Given the description of an element on the screen output the (x, y) to click on. 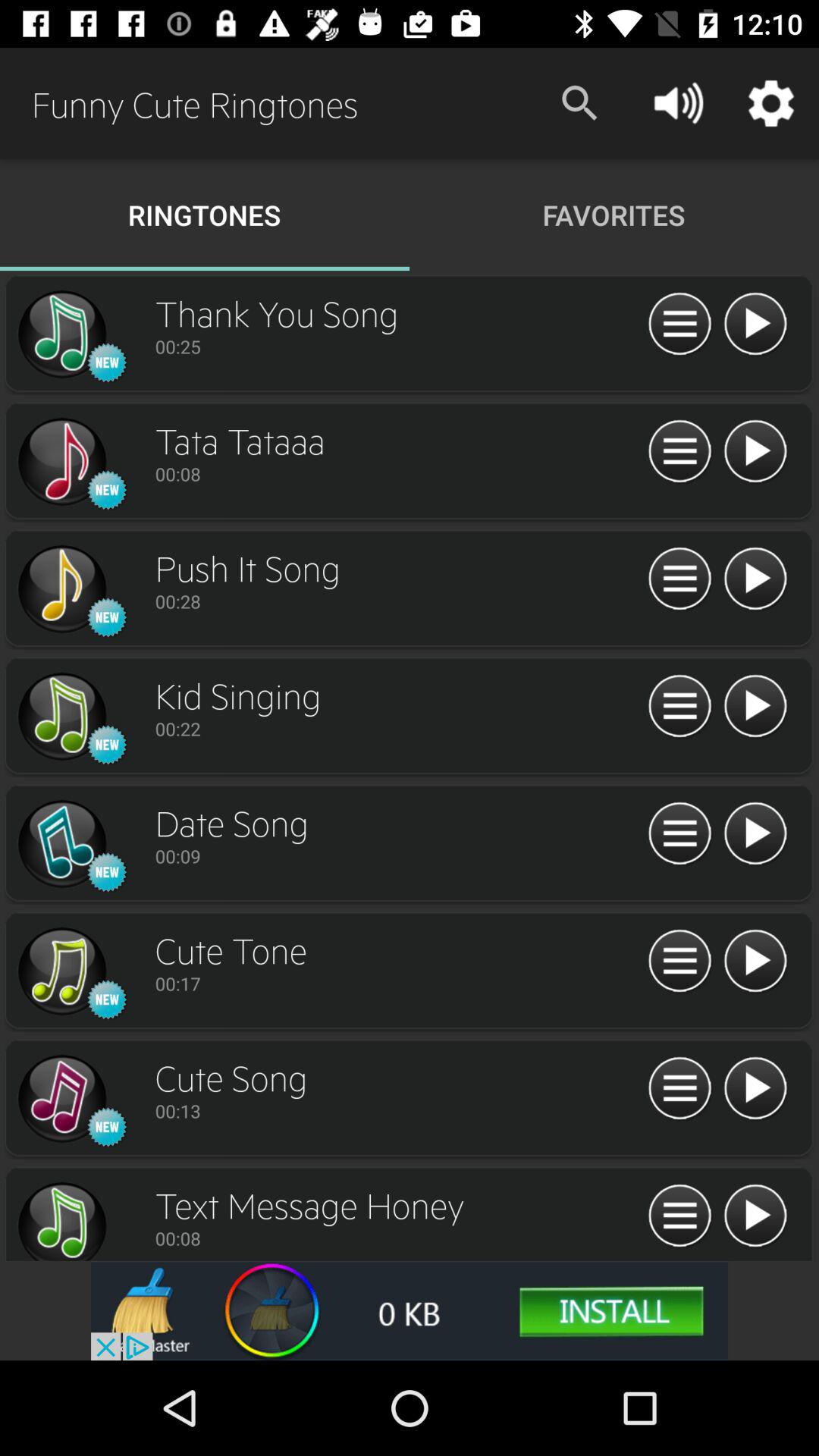
information about the chosen song (679, 1088)
